Given the description of an element on the screen output the (x, y) to click on. 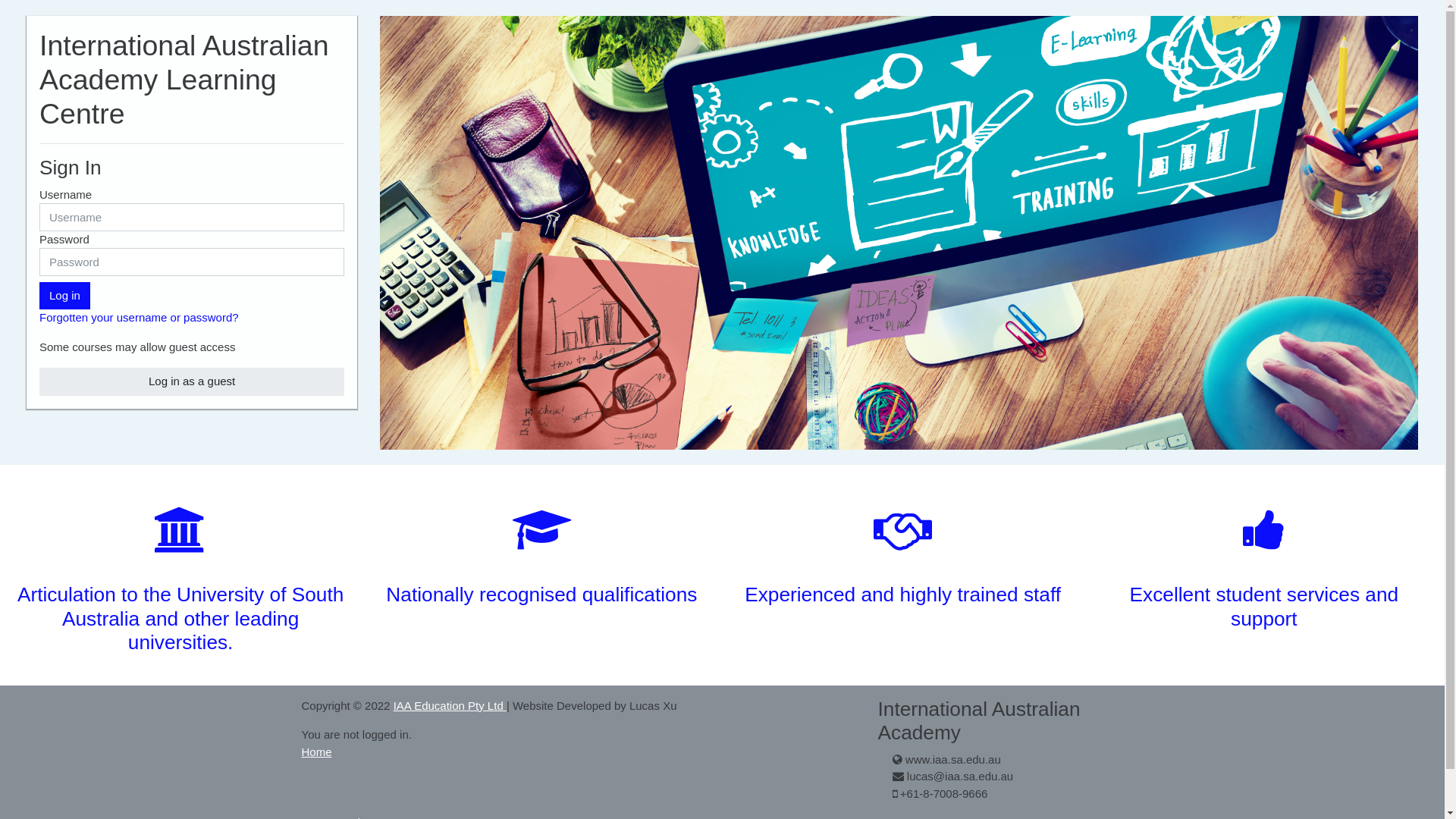
Home Element type: text (316, 751)
Log in Element type: text (64, 296)
Log in as a guest Element type: text (191, 381)
IAA Education Pty Ltd  Element type: text (449, 705)
Forgotten your username or password? Element type: text (138, 316)
